Given the description of an element on the screen output the (x, y) to click on. 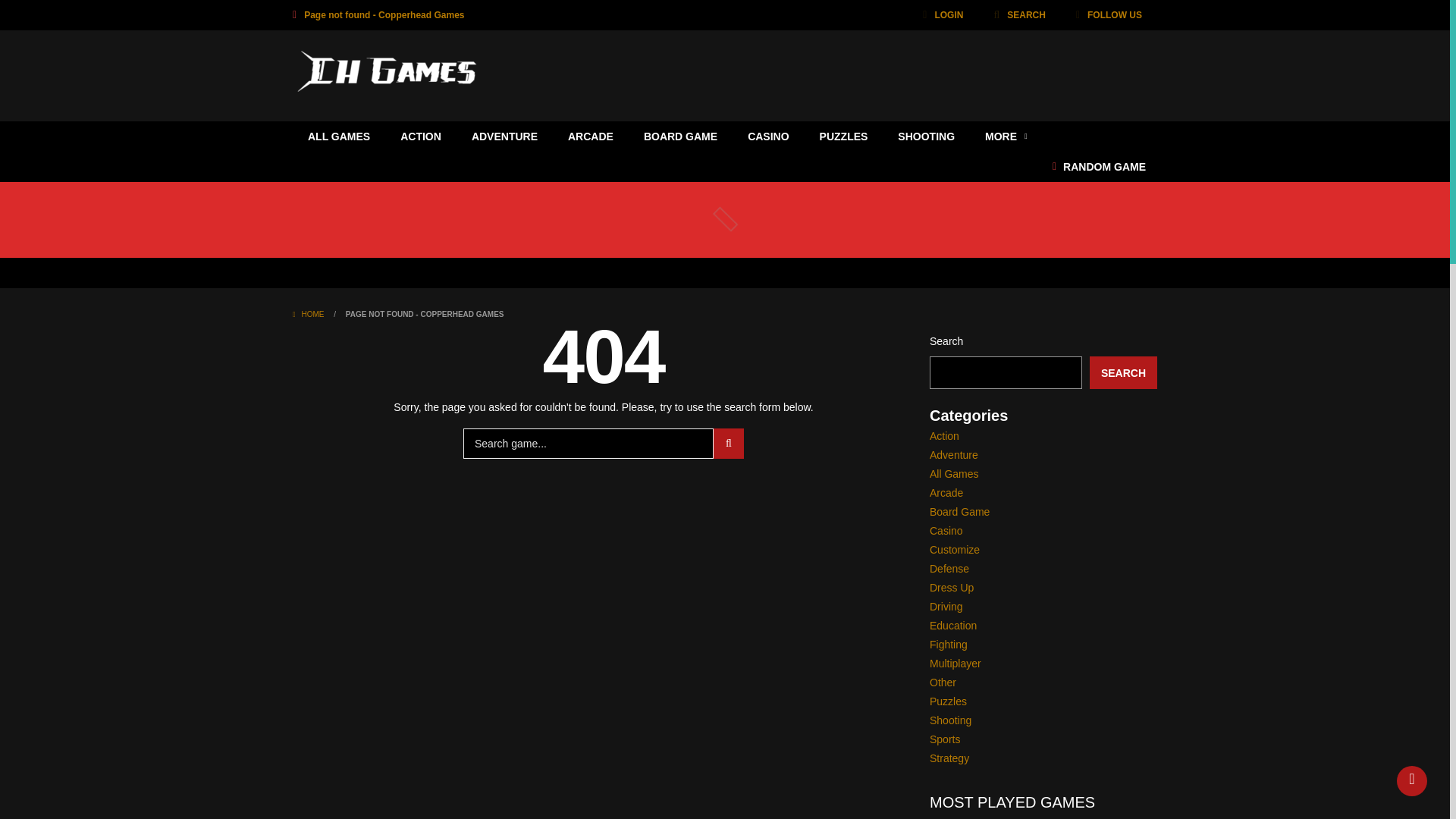
ALL GAMES (338, 136)
Play a random game! (1099, 166)
PUZZLES (844, 136)
ACTION (421, 136)
SEARCH (1019, 15)
SHOOTING (925, 136)
CASINO (767, 136)
LOGIN (942, 15)
ADVENTURE (505, 136)
MORE (1005, 136)
